Given the description of an element on the screen output the (x, y) to click on. 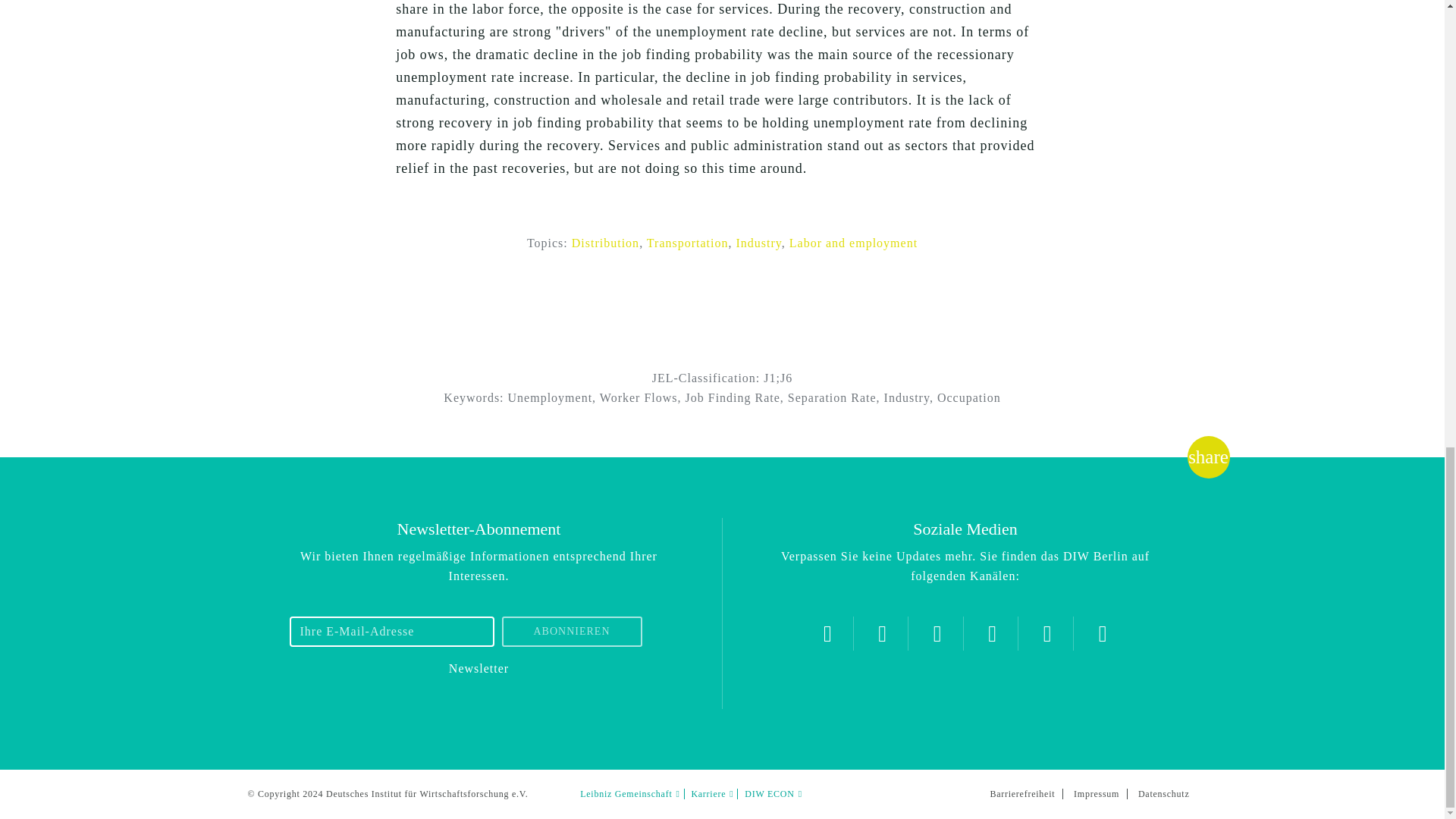
Youtube (991, 633)
RSS feeds (1102, 633)
Instagram (882, 633)
LinkedIn (1047, 633)
Twitter (827, 633)
Facebook (937, 633)
Teilen (1208, 456)
